Given the description of an element on the screen output the (x, y) to click on. 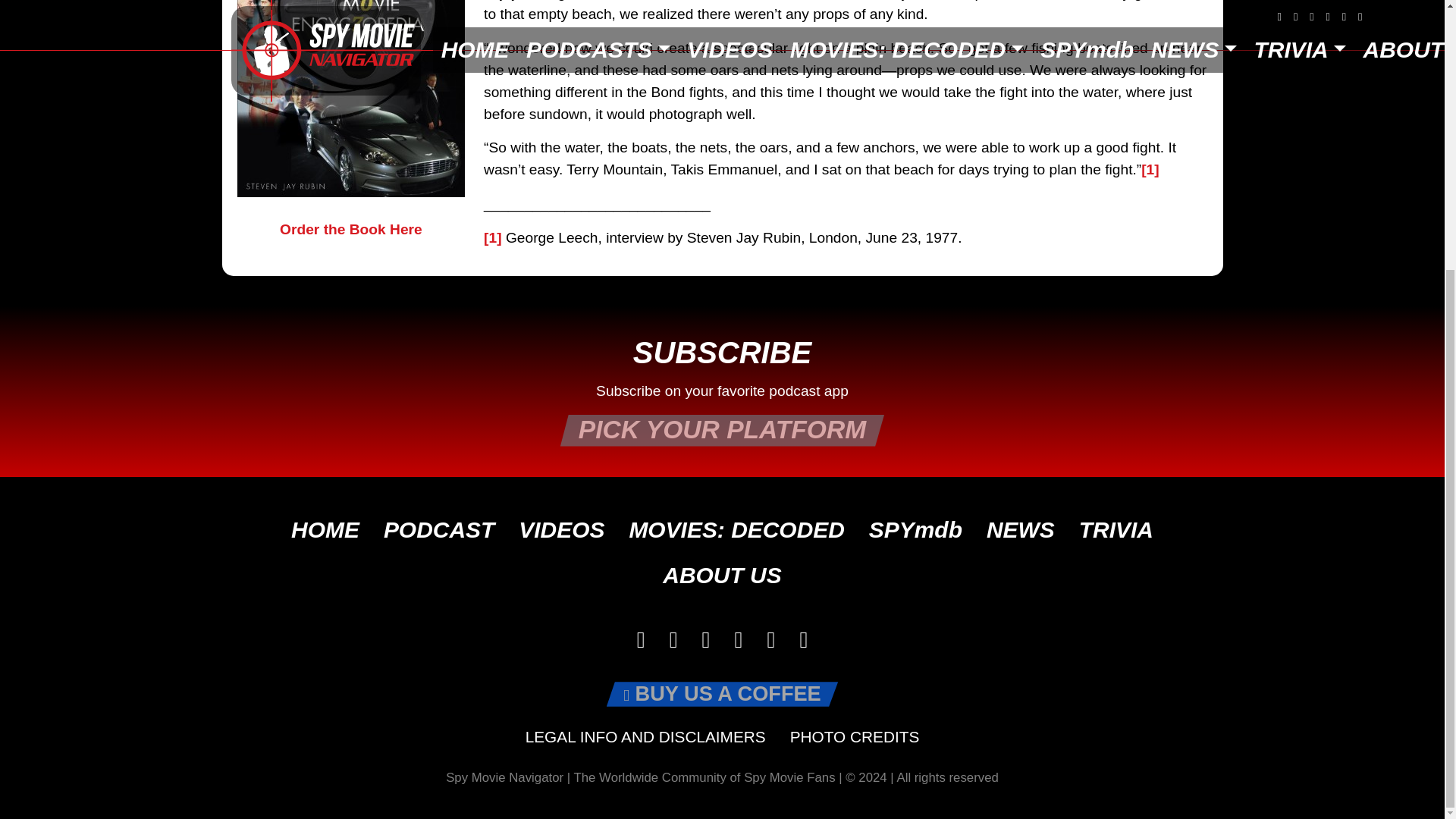
Twitter (706, 640)
Email (803, 640)
Order the Book Here (350, 120)
Pinterest (674, 640)
YouTube (770, 640)
Instagram (738, 640)
Facebook (641, 640)
PayPal - The safer, easier way to pay online! (722, 693)
